Given the description of an element on the screen output the (x, y) to click on. 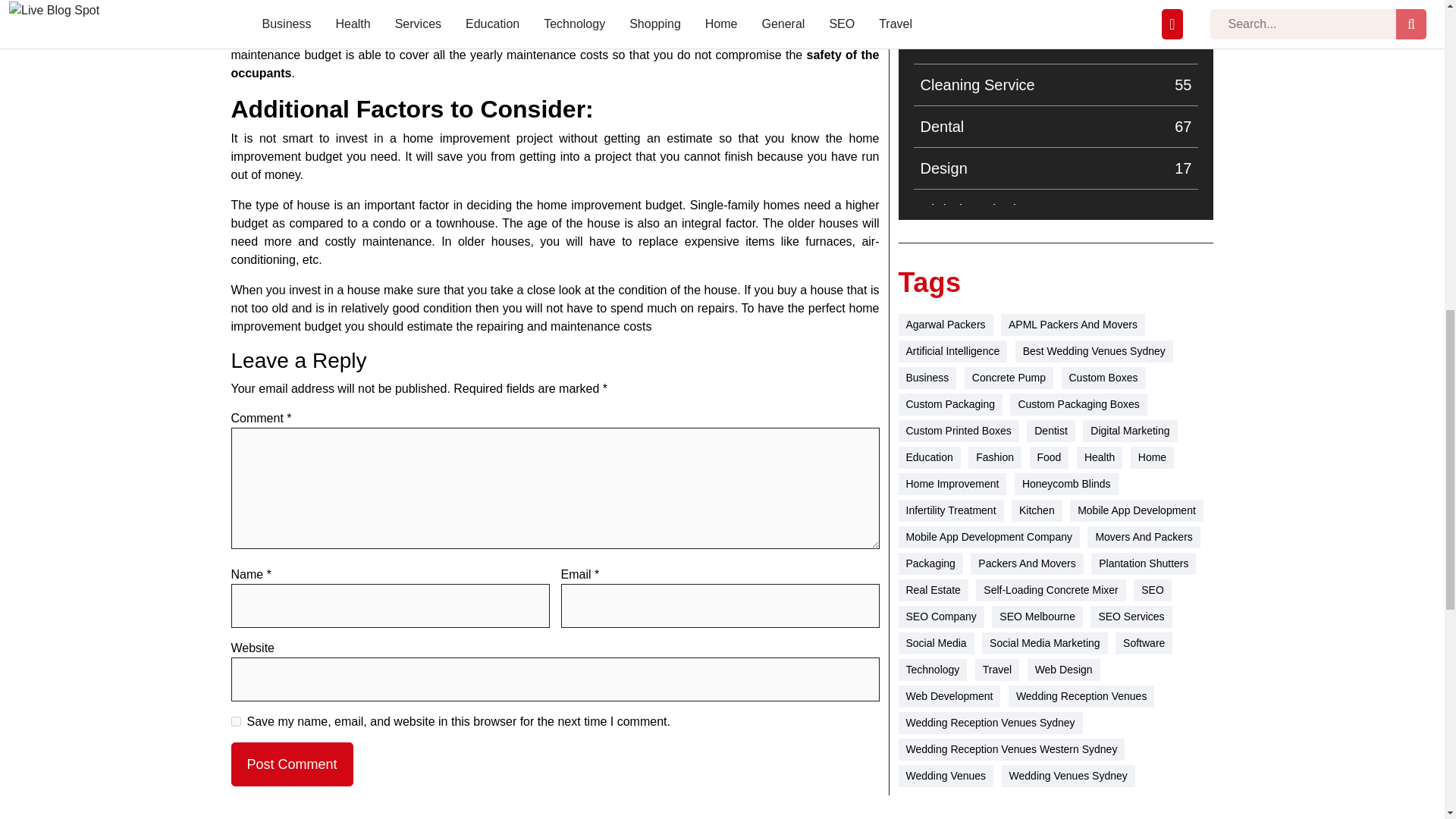
Post Comment (1056, 42)
yes (1056, 84)
Post Comment (1056, 251)
